Given the description of an element on the screen output the (x, y) to click on. 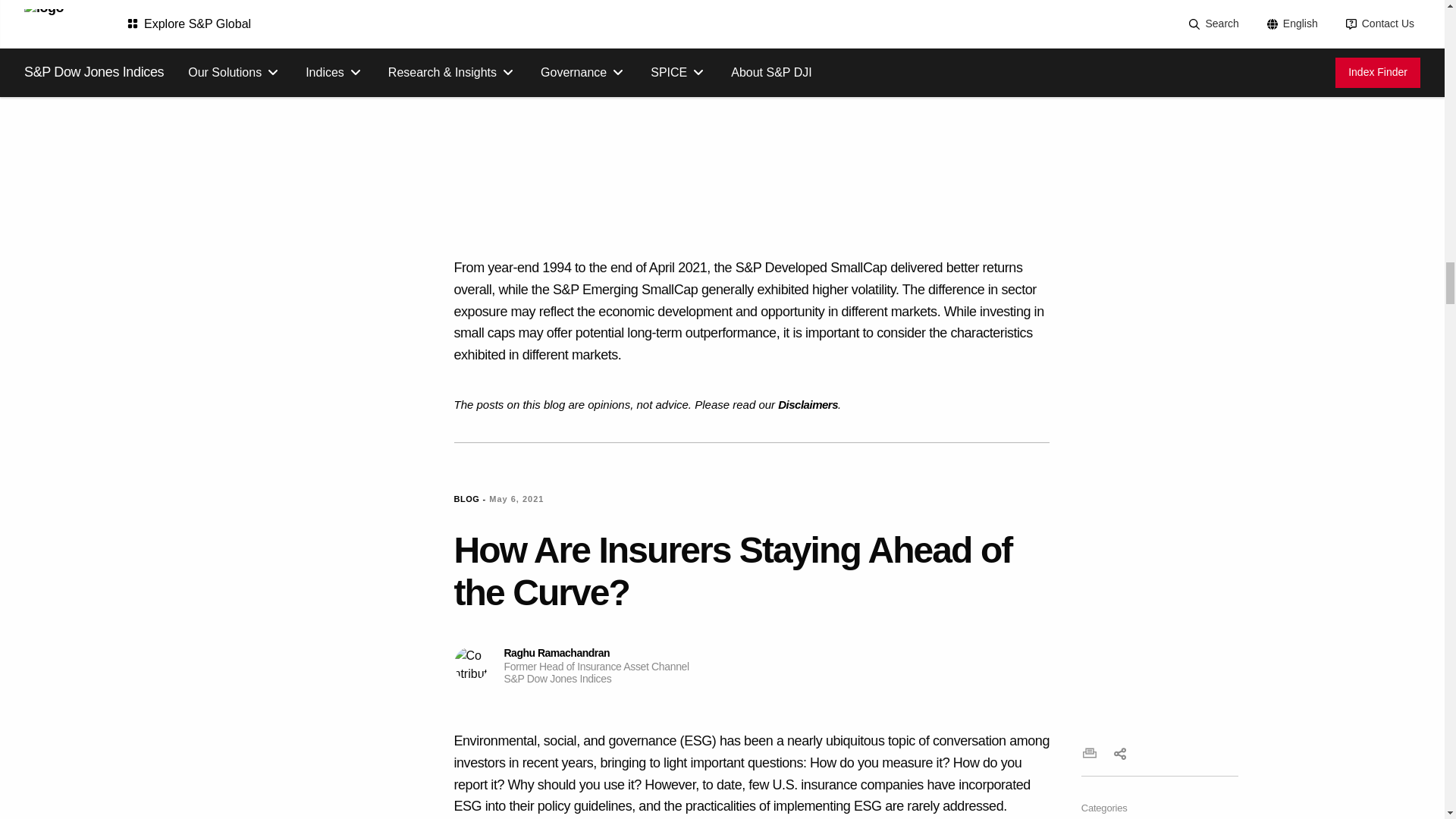
View all posts in Thematics (1171, 818)
View all posts in Fixed Income (1112, 818)
Raghu Ramachandran (469, 663)
